Given the description of an element on the screen output the (x, y) to click on. 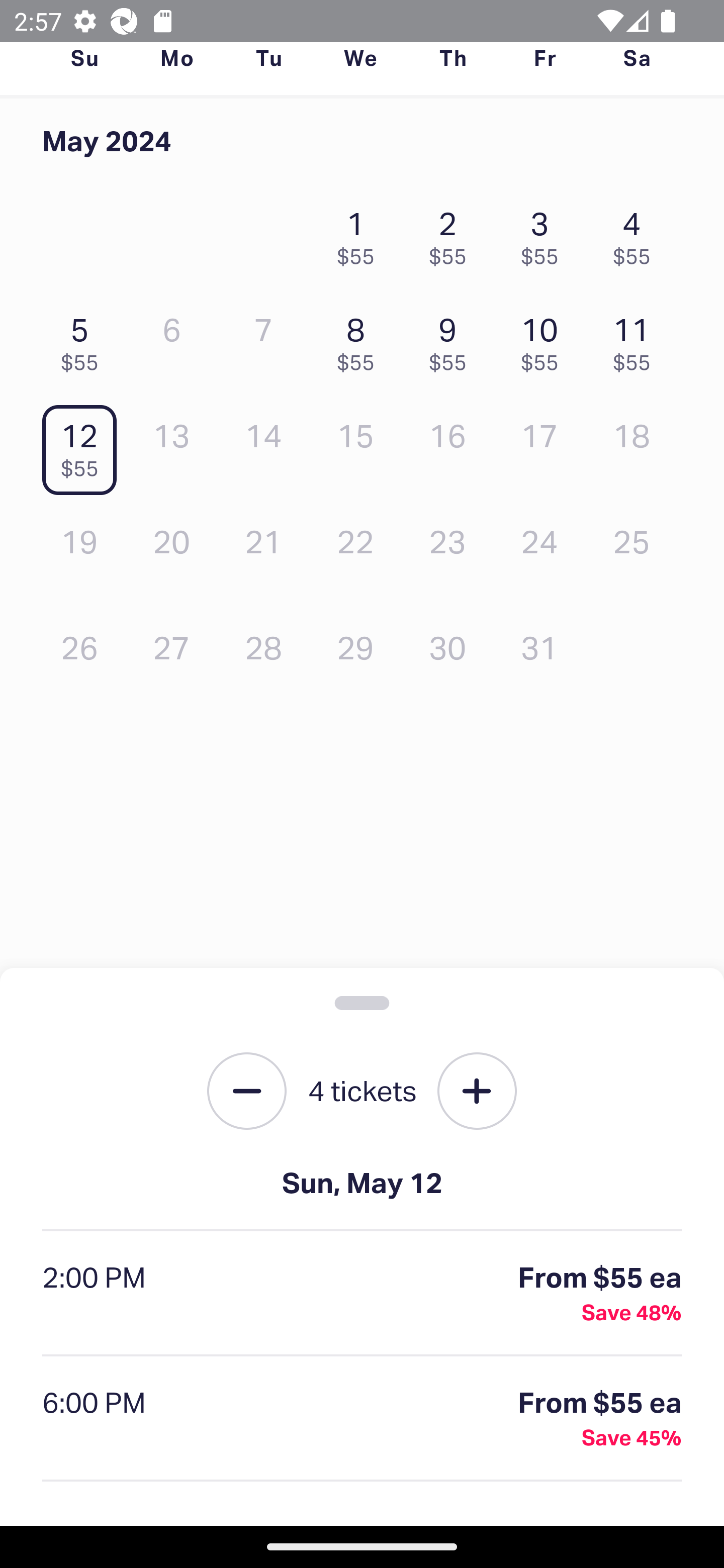
1 $55 (360, 232)
2 $55 (452, 232)
3 $55 (544, 232)
4 $55 (636, 232)
5 $55 (84, 339)
8 $55 (360, 339)
9 $55 (452, 339)
10 $55 (544, 339)
11 $55 (636, 339)
12 $55 (84, 445)
2:00 PM From $55 ea Save 48% (361, 1293)
6:00 PM From $55 ea Save 45% (361, 1418)
